Given the description of an element on the screen output the (x, y) to click on. 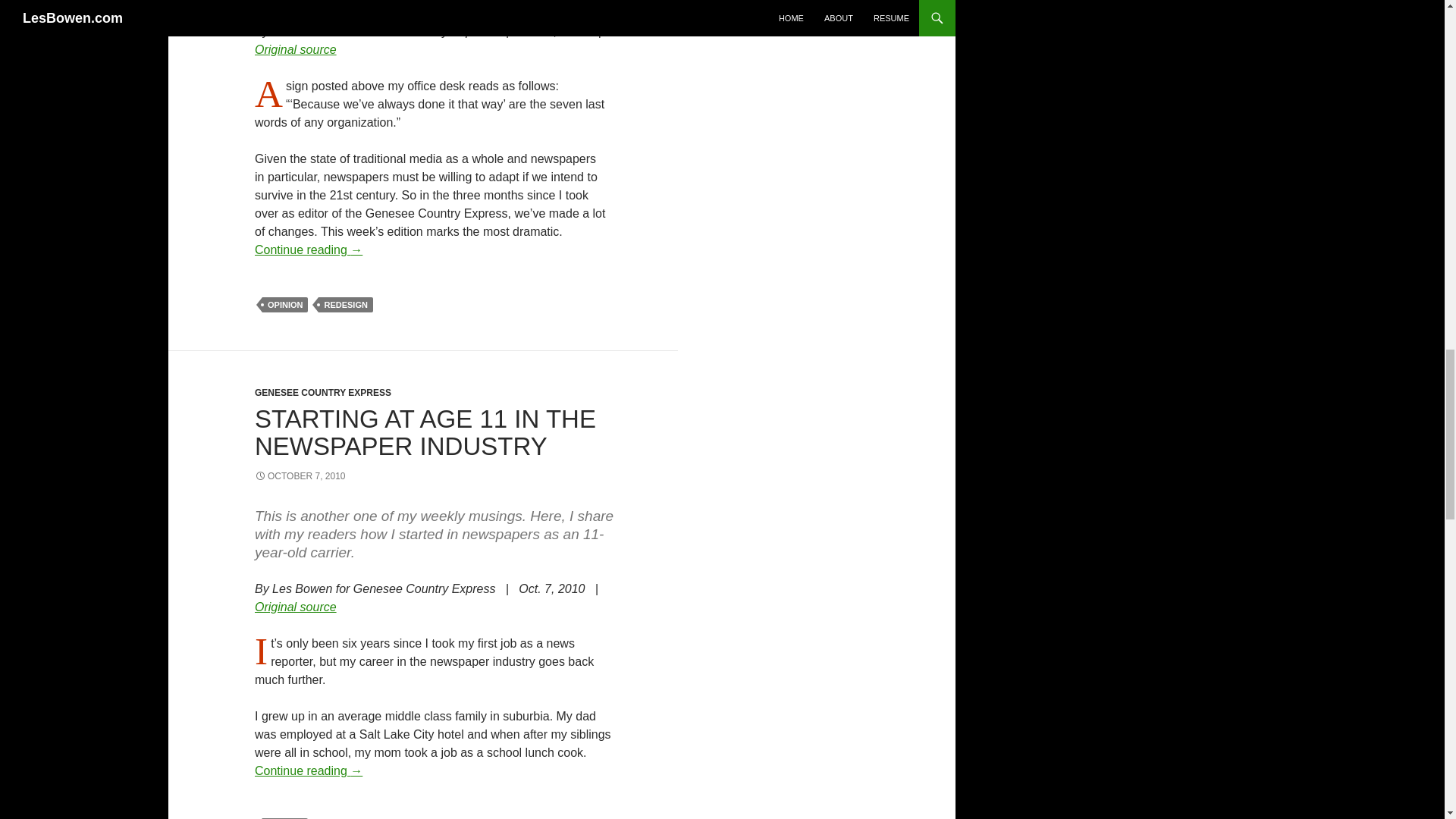
OPINION (284, 818)
GENESEE COUNTRY EXPRESS (322, 392)
Original source (295, 49)
OPINION (284, 304)
OCTOBER 7, 2010 (300, 475)
STARTING AT AGE 11 IN THE NEWSPAPER INDUSTRY (424, 432)
REDESIGN (345, 304)
Original source (295, 606)
